Given the description of an element on the screen output the (x, y) to click on. 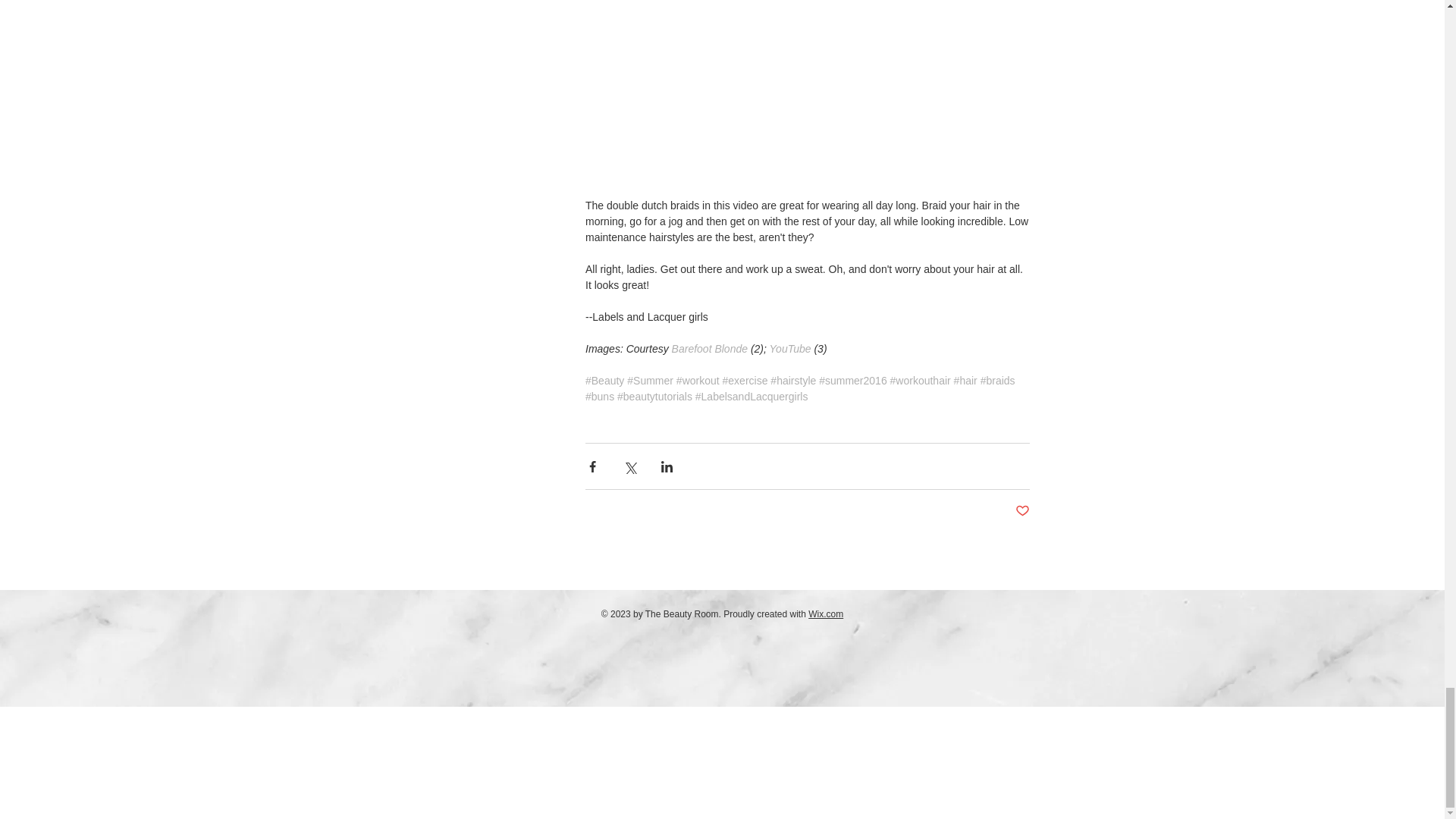
Post not marked as liked (1021, 511)
YouTube (789, 348)
Wix.com (825, 614)
Barefoot Blonde (708, 348)
